Given the description of an element on the screen output the (x, y) to click on. 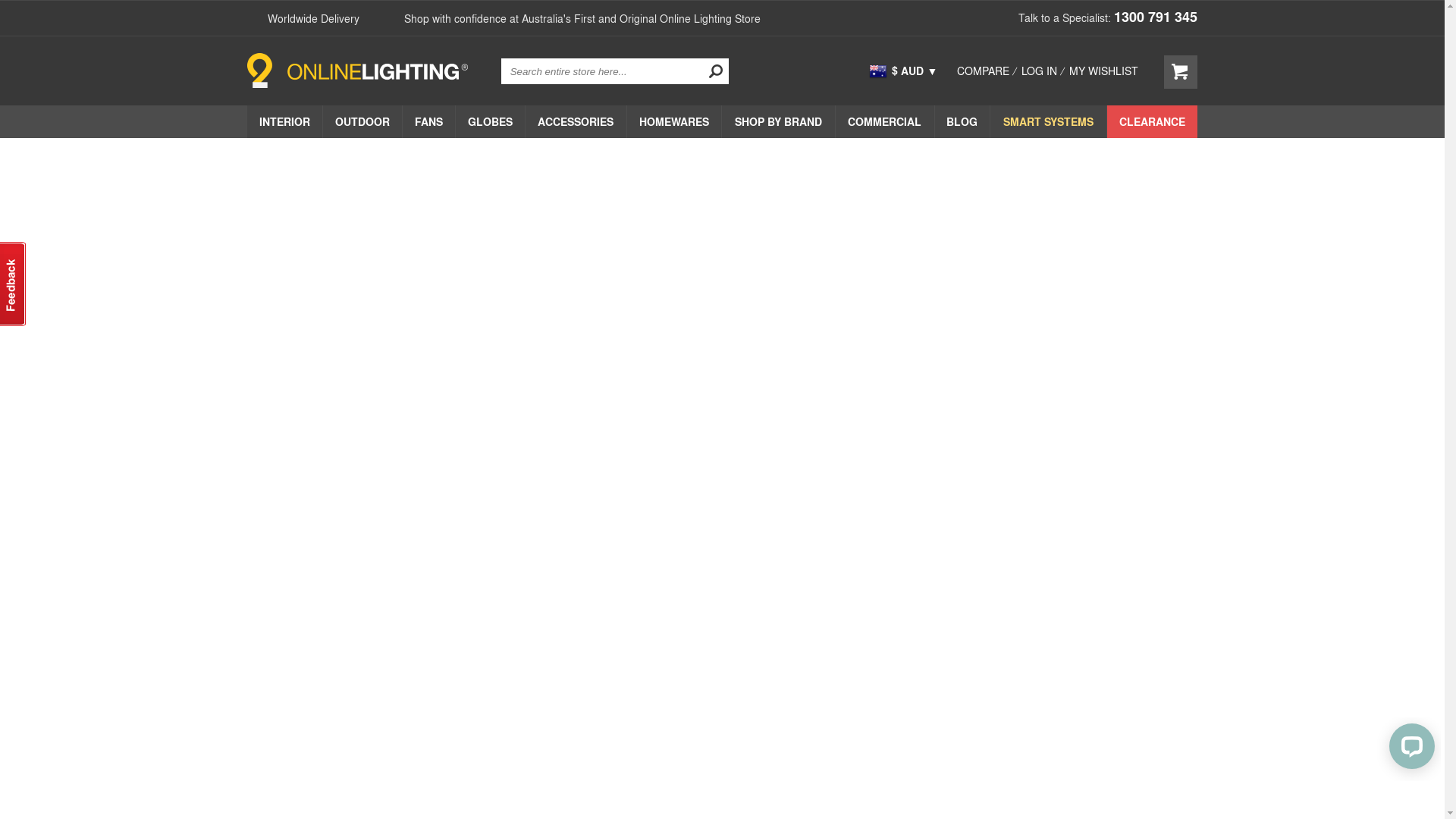
GLOBES Element type: text (489, 121)
LOG IN Element type: text (1039, 70)
INTERIOR Element type: text (284, 121)
CLEARANCE Element type: text (1152, 121)
FANS Element type: text (428, 121)
BLOG Element type: text (962, 121)
SMART SYSTEMS Element type: text (1047, 121)
SHOP BY BRAND Element type: text (777, 121)
Online Lighting Element type: text (357, 70)
COMMERCIAL Element type: text (884, 121)
ACCESSORIES Element type: text (575, 121)
COMPARE Element type: text (983, 70)
HOMEWARES Element type: text (674, 121)
LiveChat chat widget Element type: hover (1408, 749)
1300 791 345 Element type: text (1155, 16)
OUTDOOR Element type: text (362, 121)
MY WISHLIST Element type: text (1103, 70)
